Given the description of an element on the screen output the (x, y) to click on. 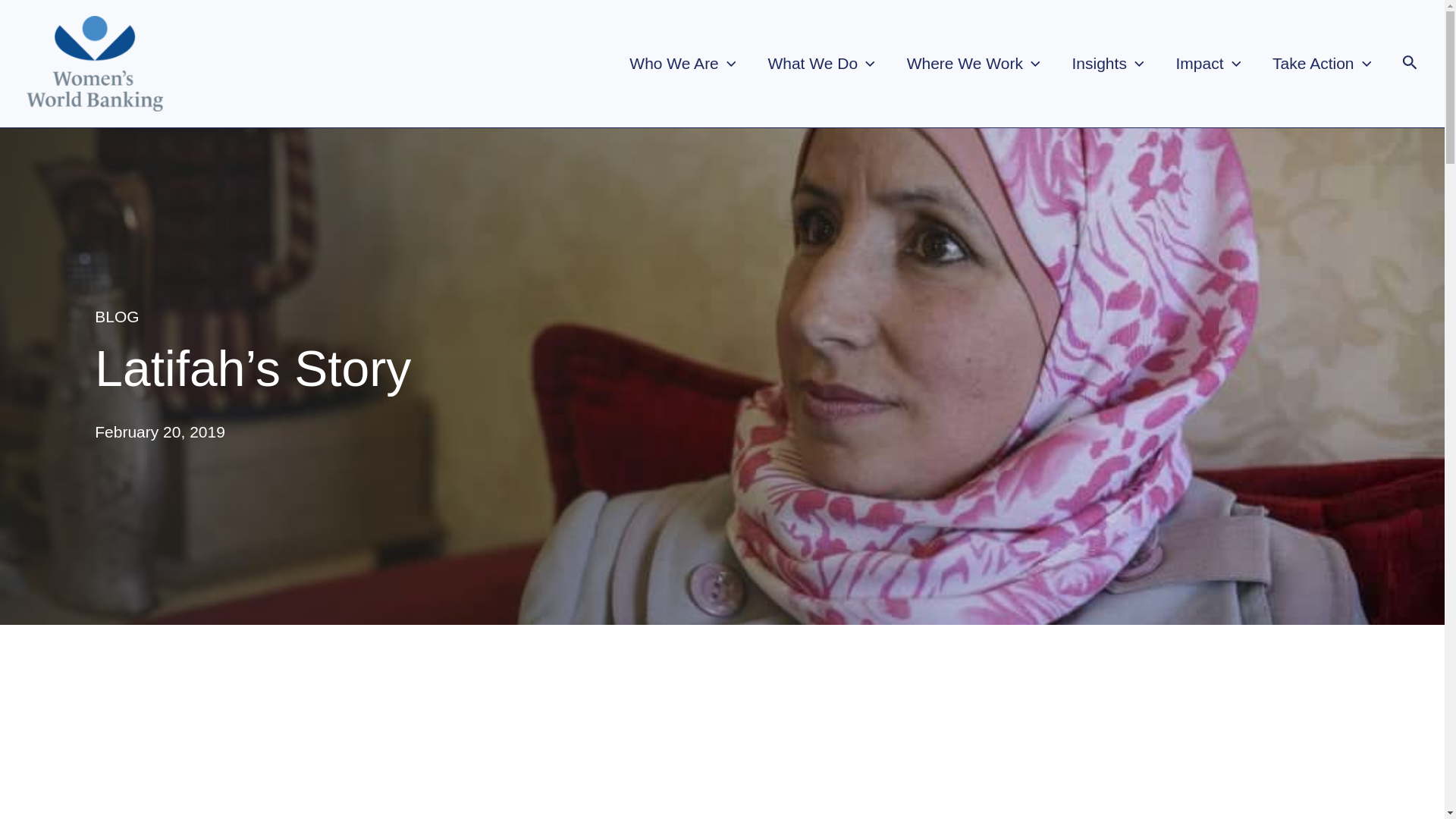
Take Action (1321, 63)
Who We Are (681, 63)
Impact (1207, 63)
Where We Work (974, 63)
Insights (1108, 63)
What We Do (820, 63)
